Given the description of an element on the screen output the (x, y) to click on. 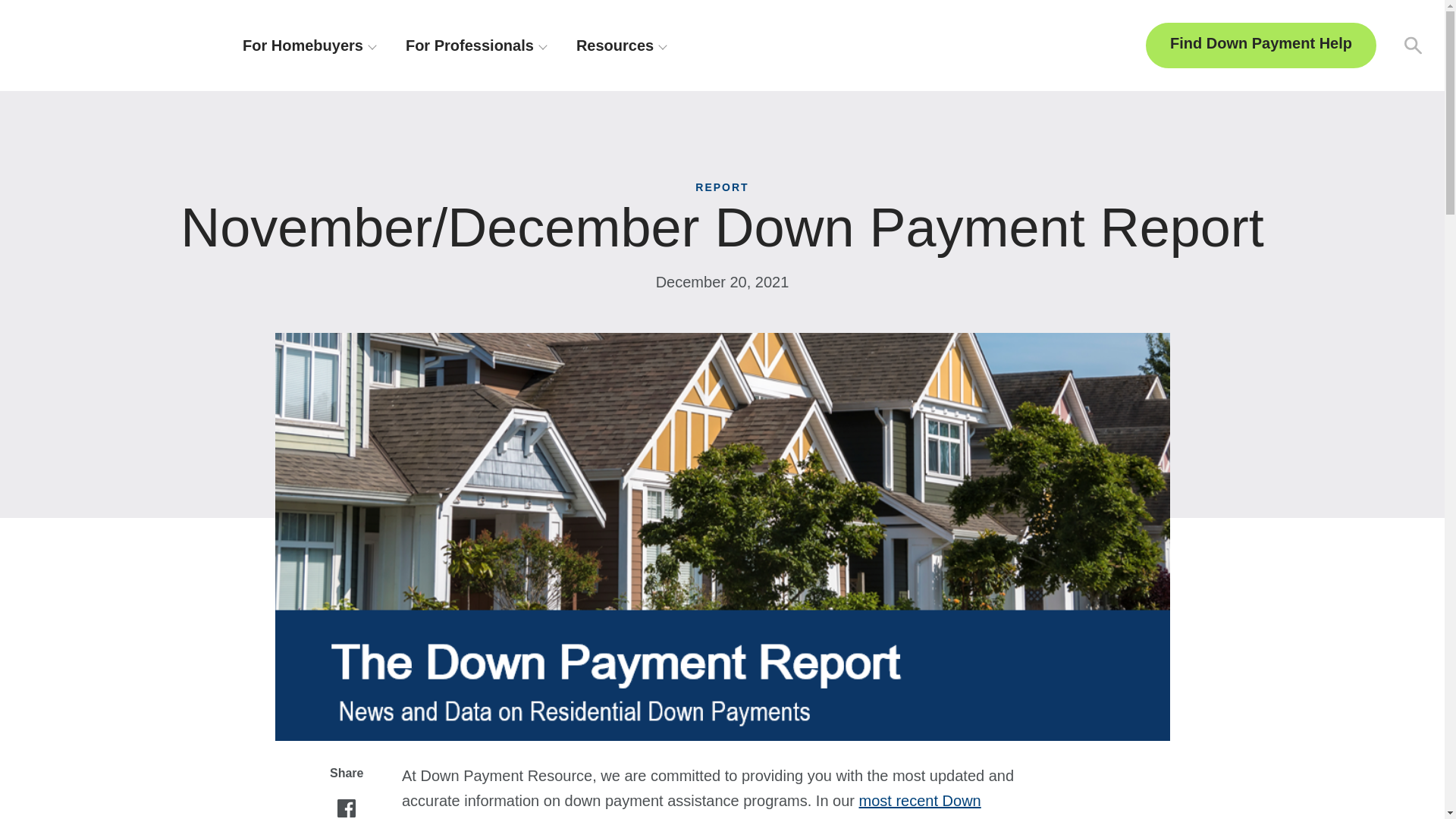
most recent Down Payment Report (691, 805)
Resources (620, 45)
Facebook (346, 809)
For Professionals (476, 45)
For Homebuyers (309, 45)
Find Down Payment Help (1260, 44)
